Given the description of an element on the screen output the (x, y) to click on. 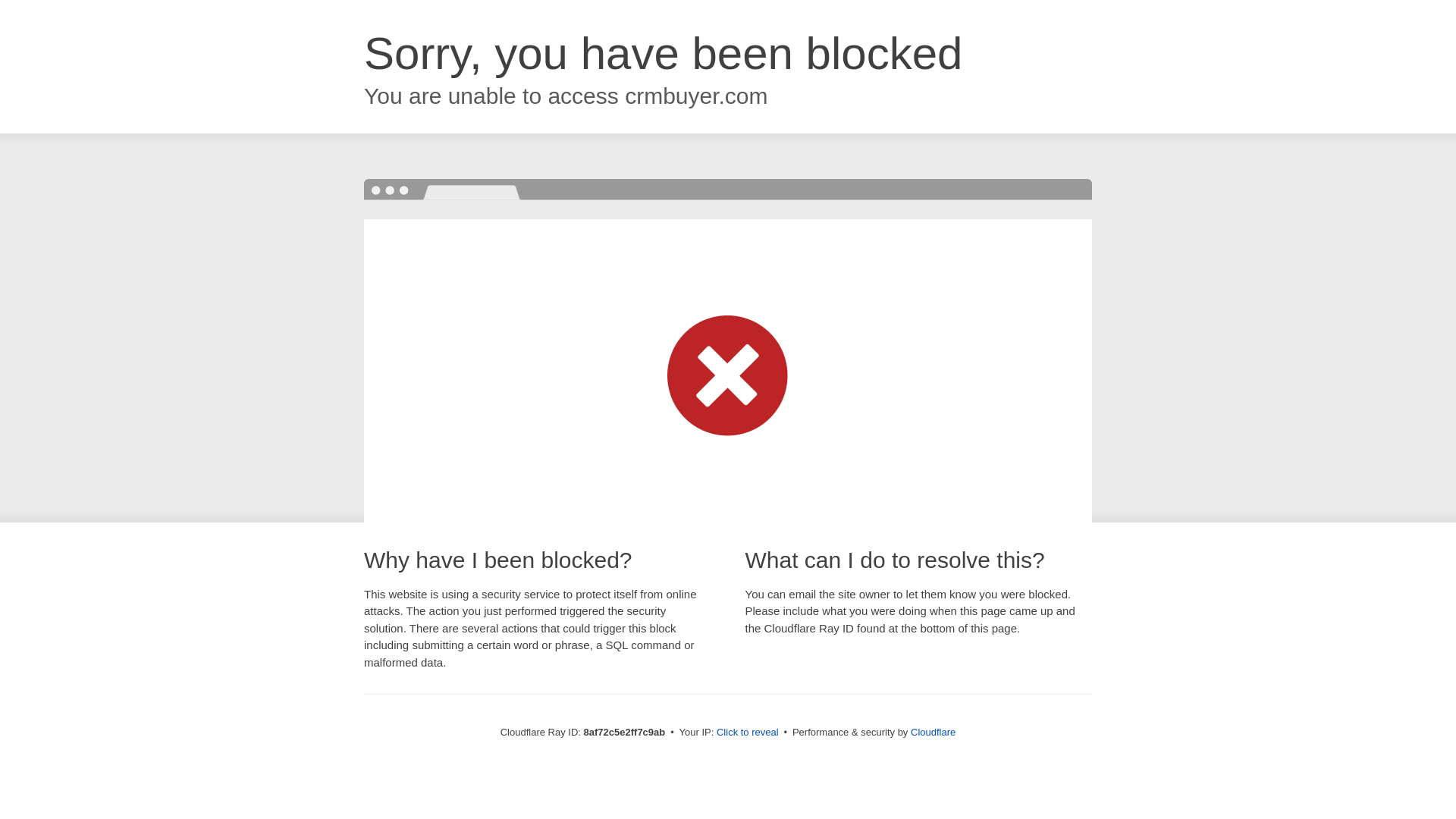
Click to reveal (747, 732)
Cloudflare (933, 731)
